Given the description of an element on the screen output the (x, y) to click on. 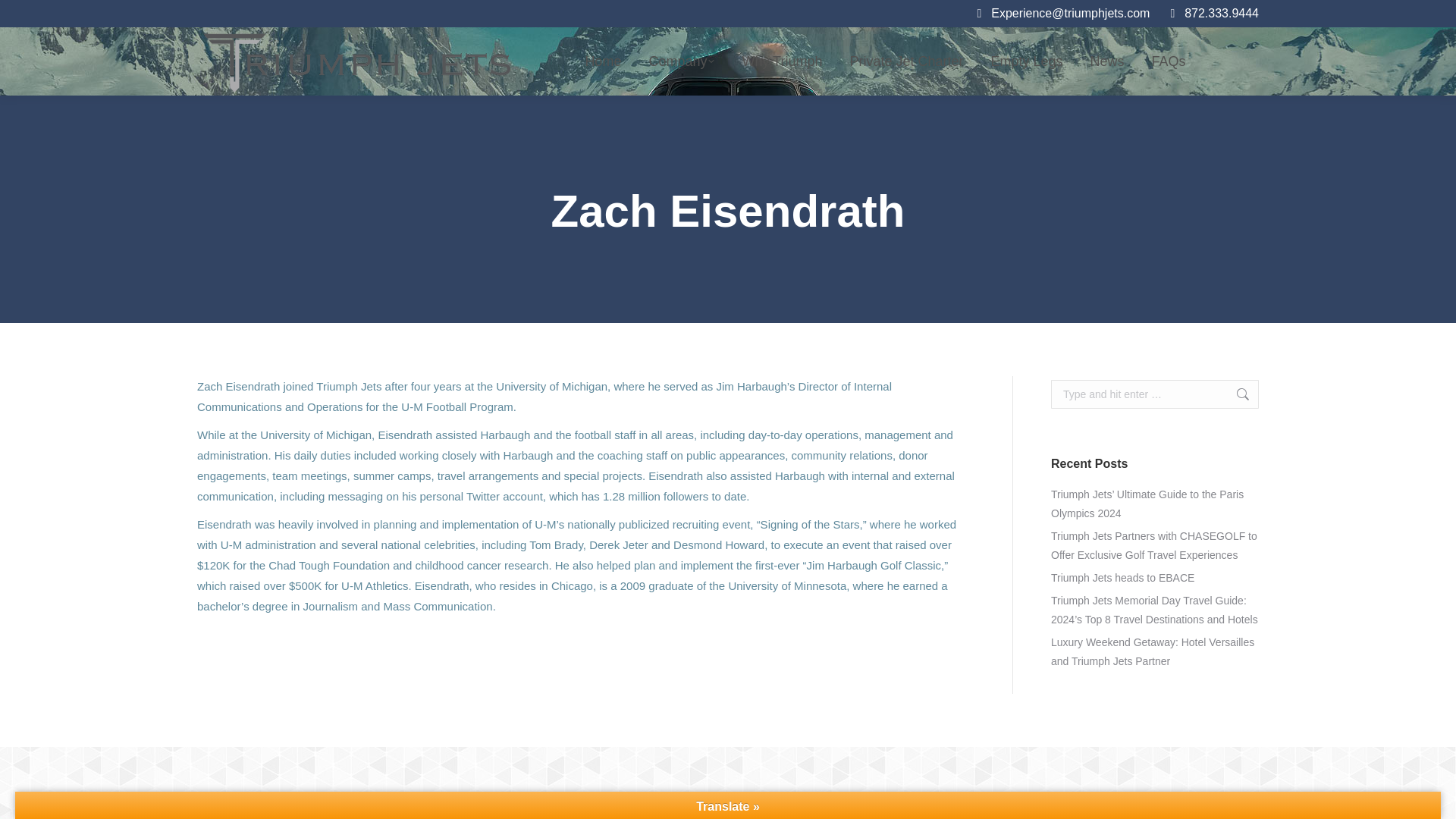
Go! (1235, 394)
Go! (1235, 394)
FAQs (1168, 60)
872.333.9444 (1211, 13)
News (1106, 60)
Triumph Jets heads to EBACE (1122, 578)
Empty Legs (1026, 60)
Go! (1235, 394)
Why Triumph (781, 60)
Home (602, 60)
Company (681, 60)
Private Jet Charter (905, 60)
